Given the description of an element on the screen output the (x, y) to click on. 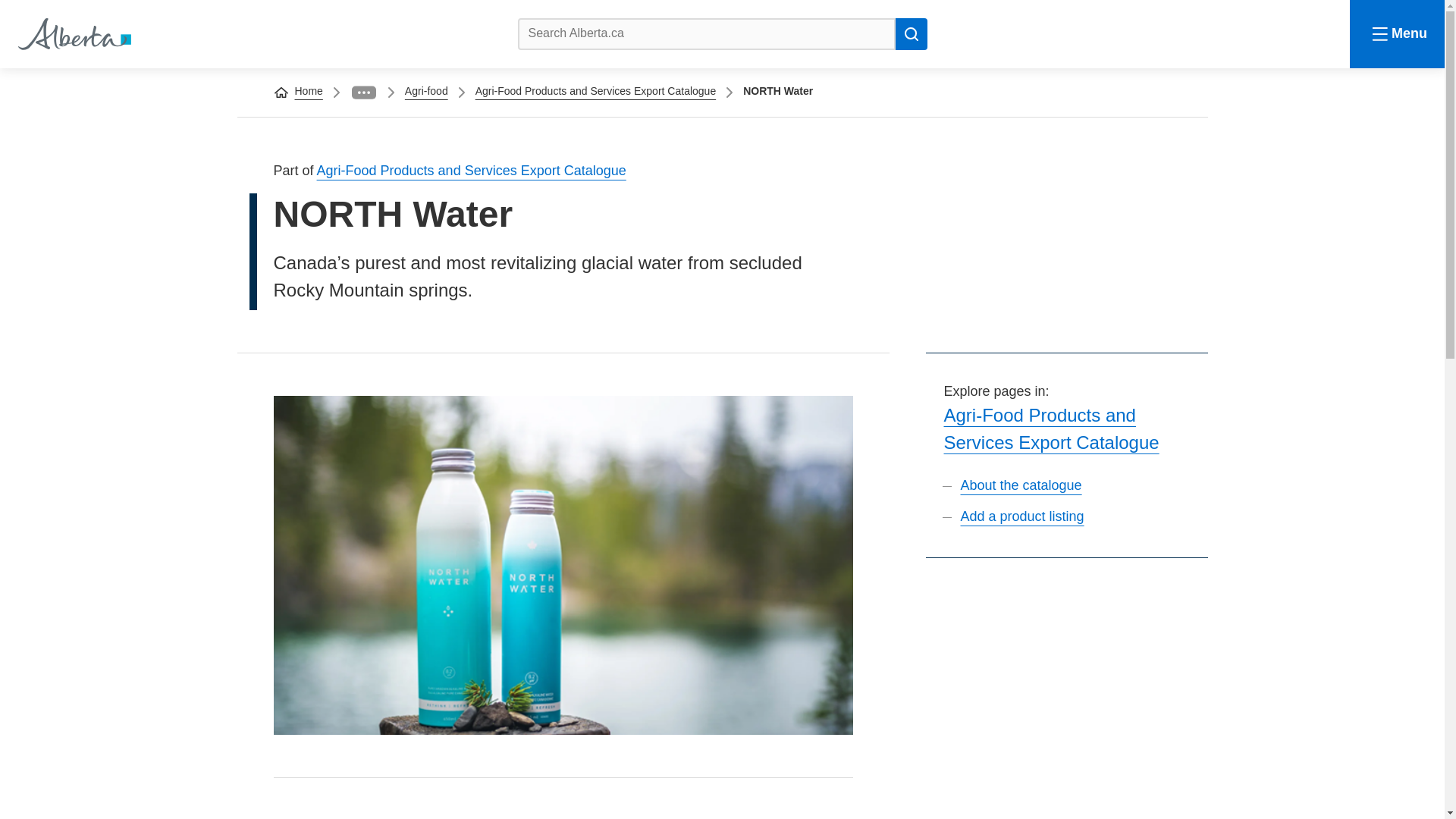
Agri-food (426, 91)
Alberta.ca (73, 33)
Home (307, 91)
Home (73, 33)
Agri-Food Products and Services Export Catalogue (1050, 428)
Agri-Food Products and Services Export Catalogue (596, 91)
About the catalogue (1020, 485)
Agri-Food Products and Services Export Catalogue (471, 170)
